Given the description of an element on the screen output the (x, y) to click on. 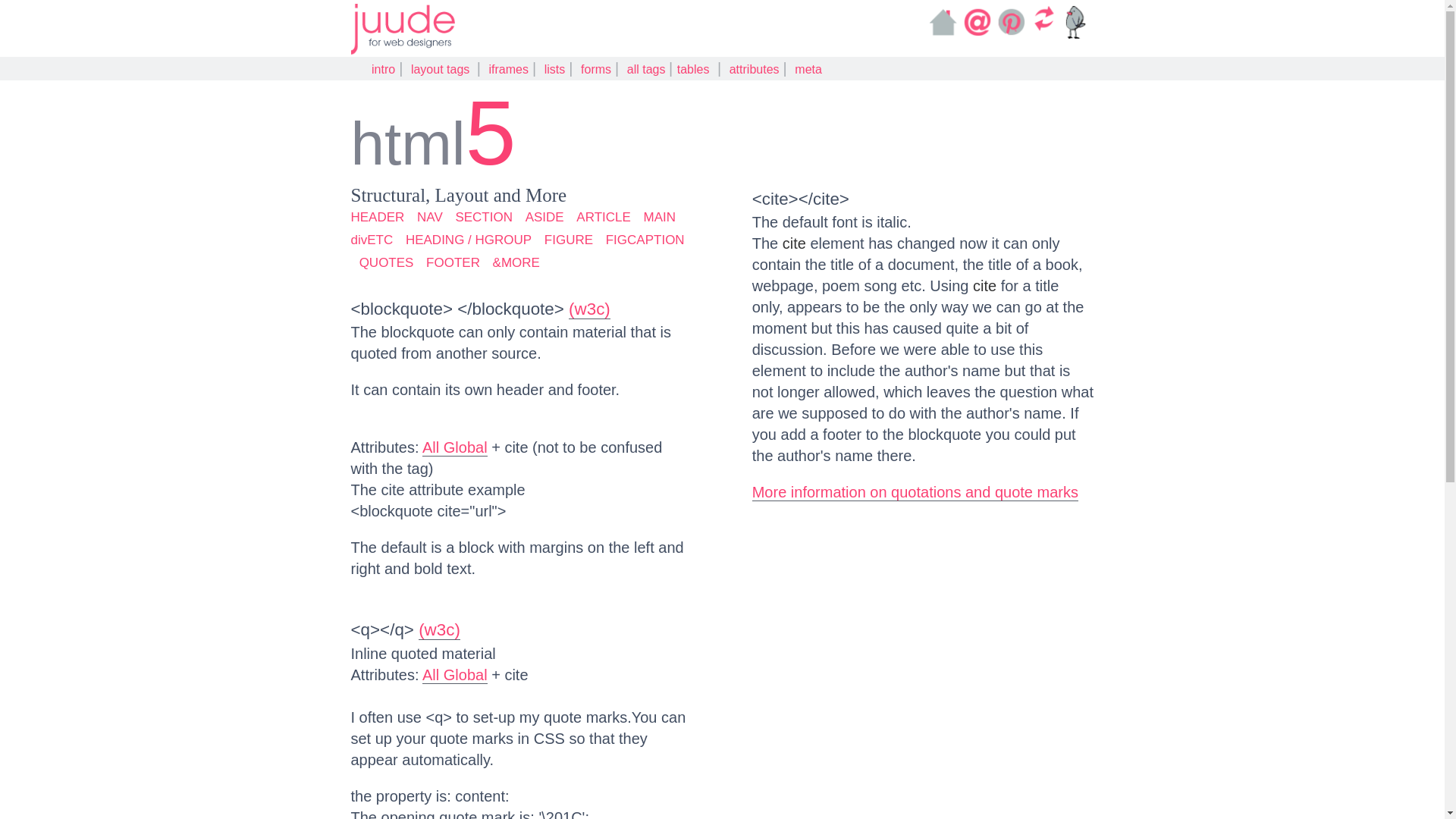
forms (595, 69)
tables (693, 69)
All Global (454, 674)
attributes (753, 69)
all tags (647, 69)
meta (808, 69)
divETC (371, 239)
SECTION (483, 216)
NAV (429, 216)
FIGURE (568, 239)
